Given the description of an element on the screen output the (x, y) to click on. 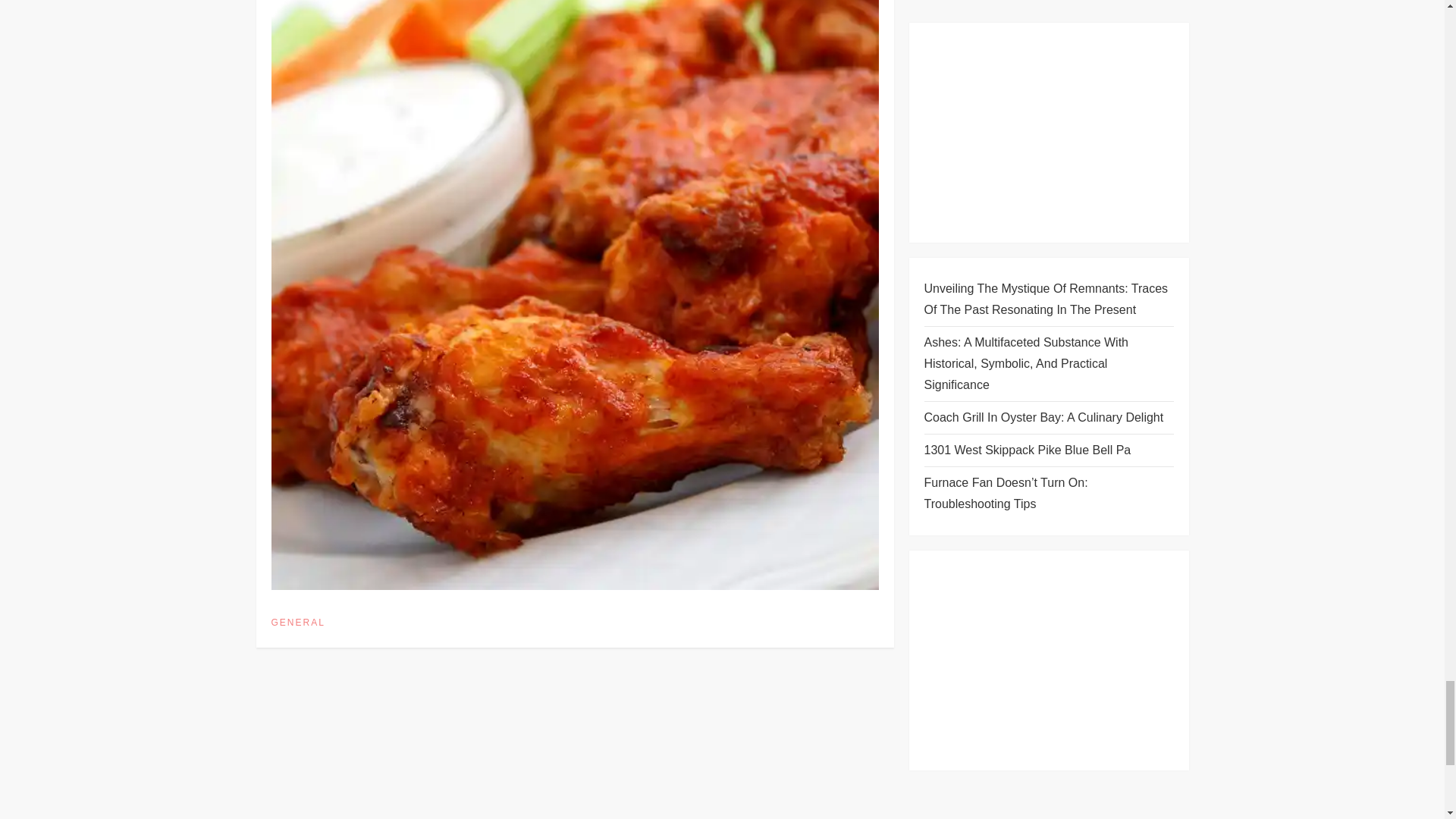
GENERAL (297, 623)
